Given the description of an element on the screen output the (x, y) to click on. 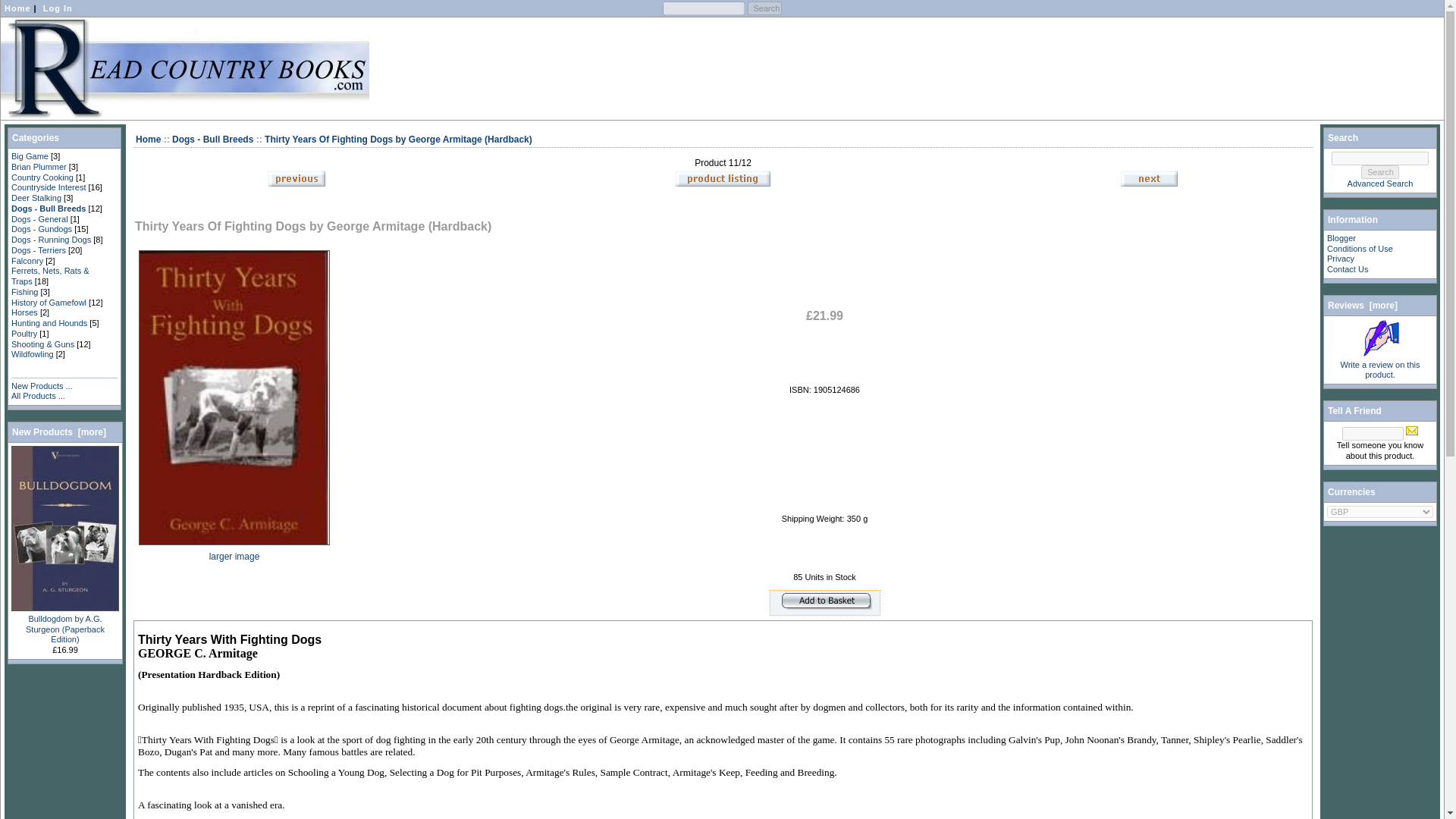
Search (764, 8)
All Products ... (38, 395)
larger image (234, 550)
Countryside Interest (48, 186)
Wildfowling (32, 353)
Dogs - Bull Breeds (48, 207)
 Tell a Friend  (1412, 430)
 Write a review on this product.  (1380, 338)
Poultry (24, 333)
Dogs - Gundogs (41, 228)
